Given the description of an element on the screen output the (x, y) to click on. 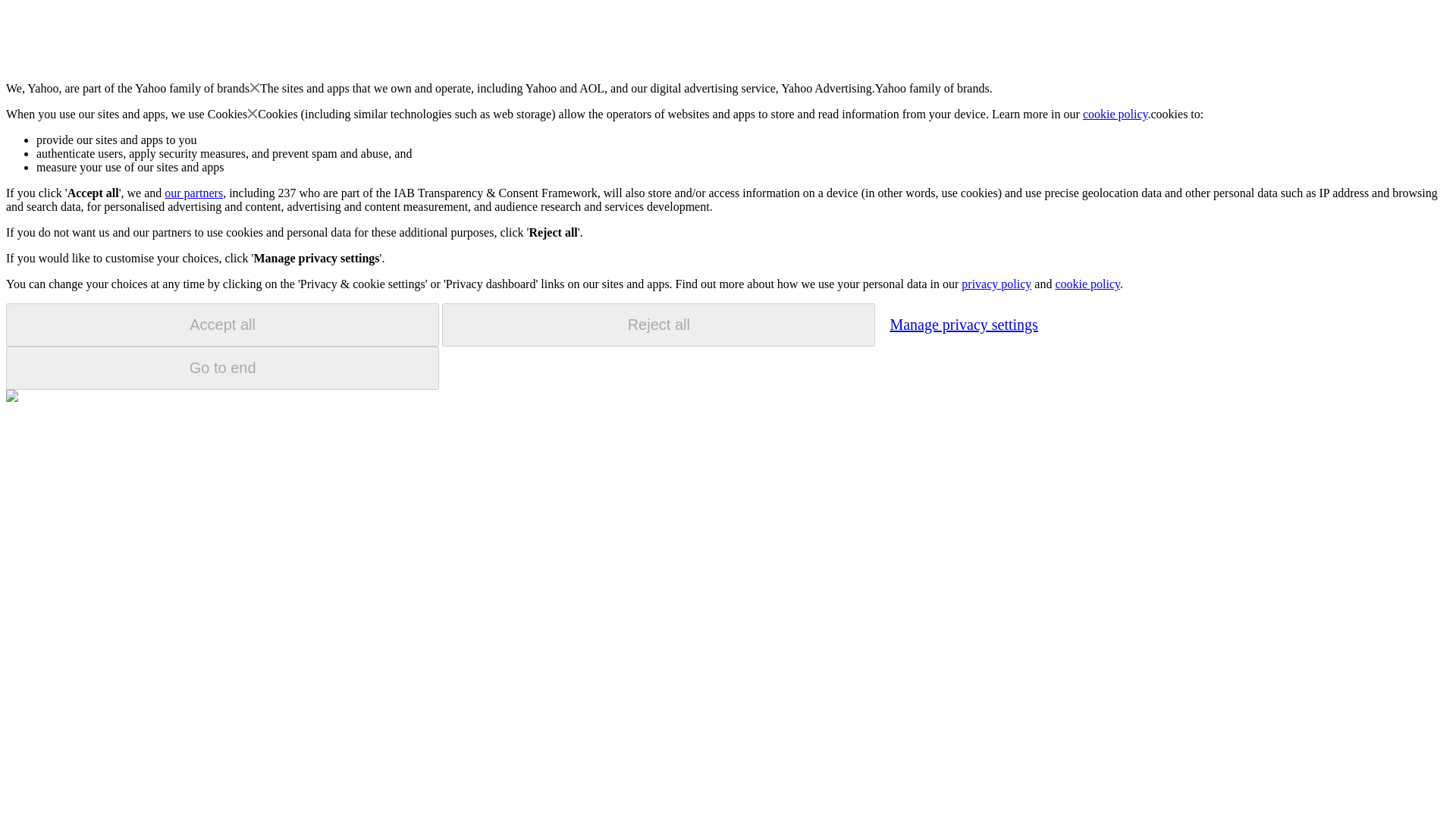
Go to end (222, 367)
Reject all (658, 324)
our partners (193, 192)
cookie policy (1086, 283)
Manage privacy settings (963, 323)
privacy policy (995, 283)
cookie policy (1115, 113)
Accept all (222, 324)
